Given the description of an element on the screen output the (x, y) to click on. 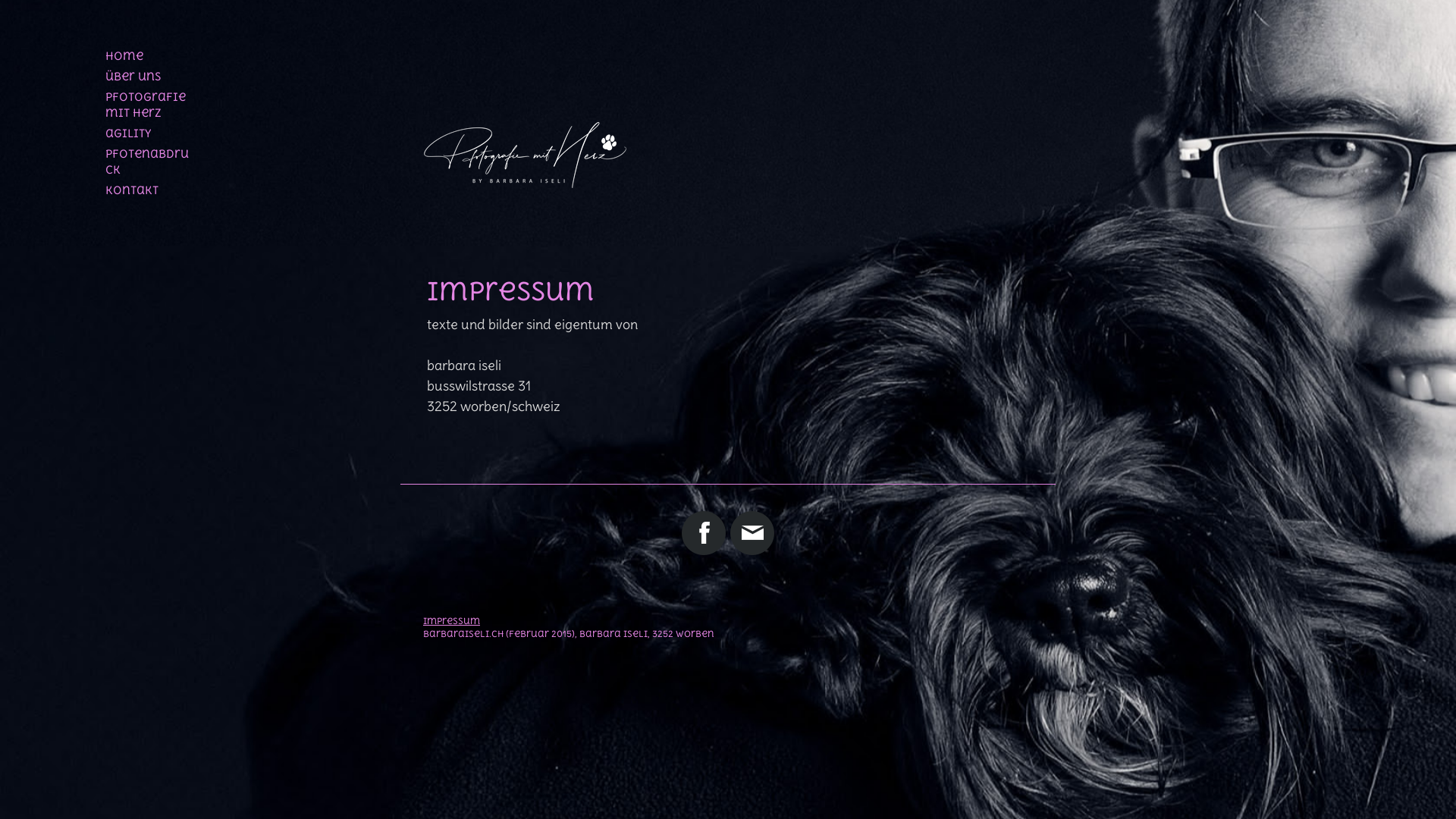
Impressum Element type: text (451, 620)
Facebook Element type: hover (703, 533)
E-Mail Element type: hover (752, 533)
pfotenabdruck Element type: text (148, 161)
agility Element type: text (148, 132)
home Element type: text (148, 55)
kontakt Element type: text (148, 189)
pfotografie mit herz Element type: text (148, 104)
